Given the description of an element on the screen output the (x, y) to click on. 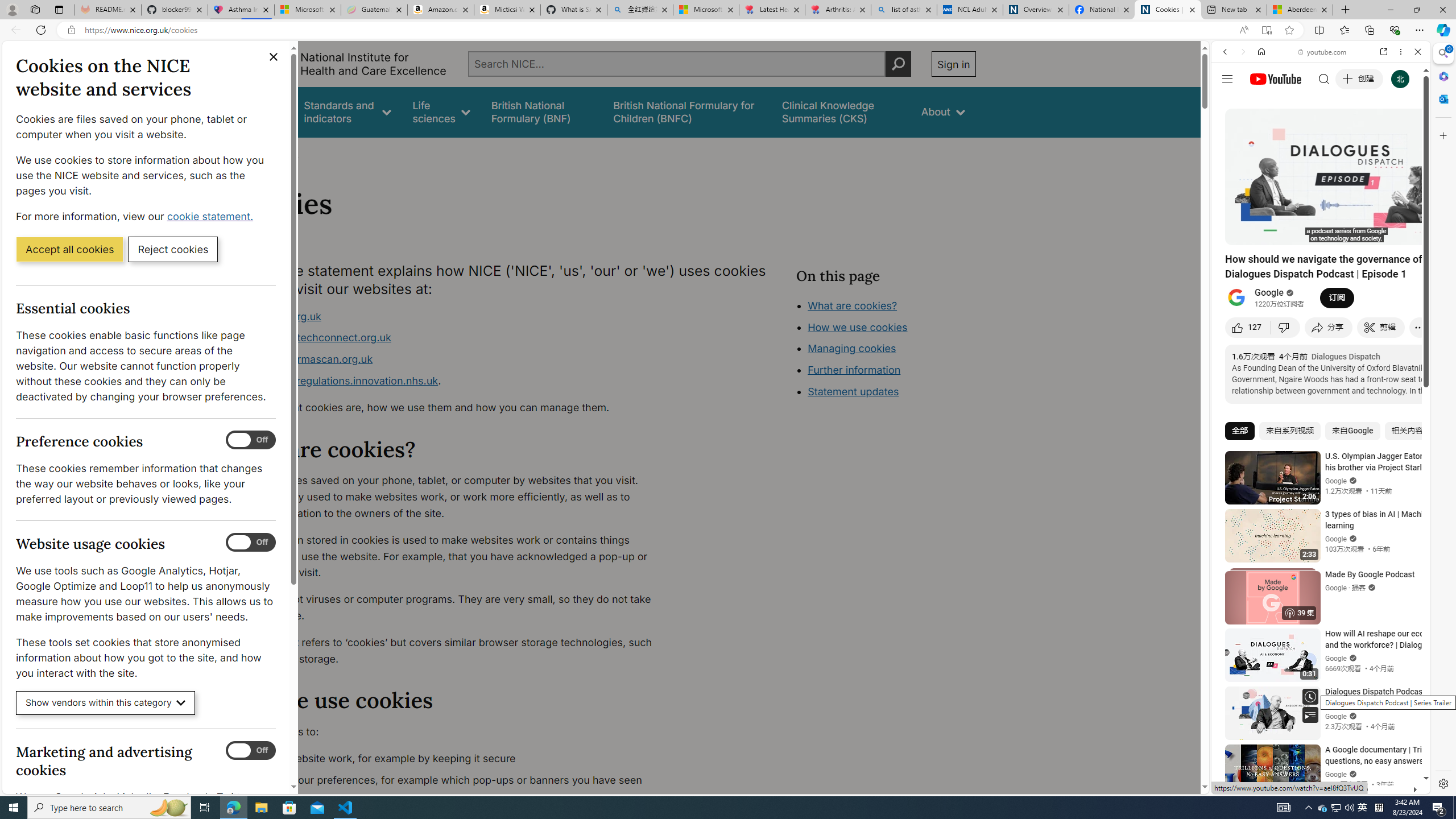
YouTube - YouTube (1315, 560)
www.healthtechconnect.org.uk (314, 337)
